Given the description of an element on the screen output the (x, y) to click on. 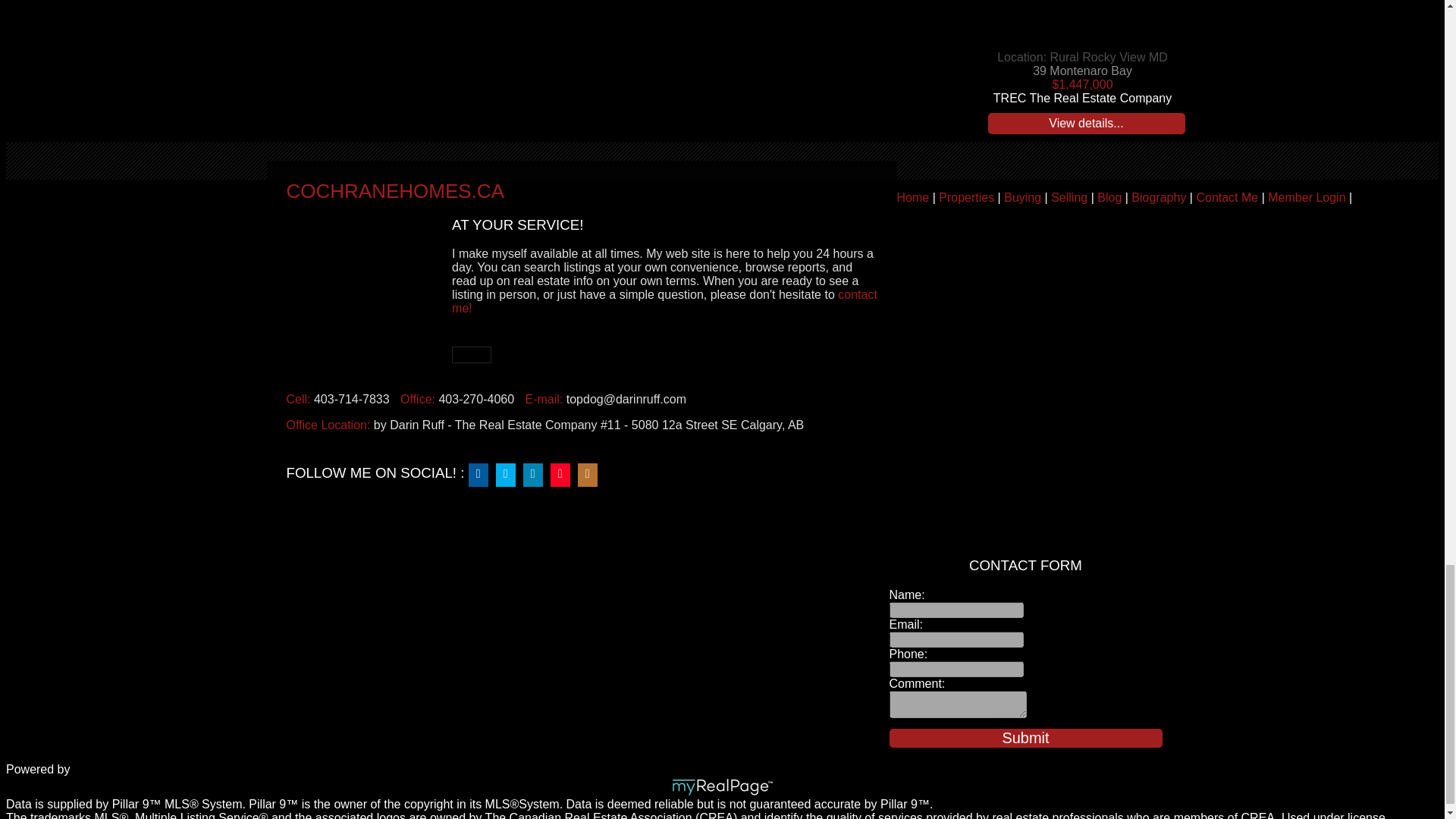
Home (912, 196)
Contact Me (1226, 196)
Biography (1158, 196)
View details... (1086, 123)
Member Login (1306, 196)
Properties (966, 196)
Selling (1069, 196)
Buying (1022, 196)
Blog (1109, 196)
